Given the description of an element on the screen output the (x, y) to click on. 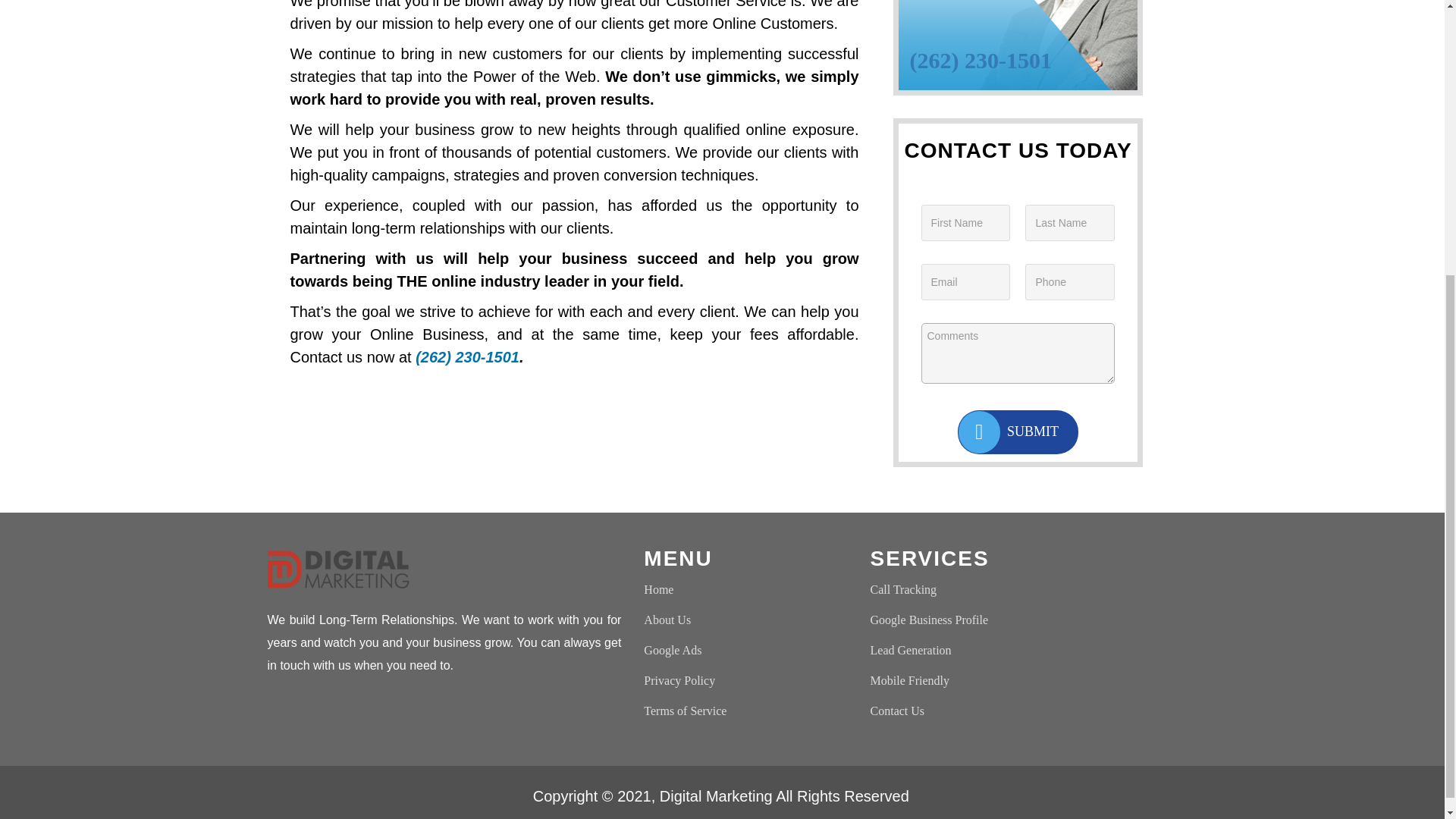
Last Name (1070, 222)
Email (965, 281)
First Name (965, 222)
Phone (1070, 281)
